Given the description of an element on the screen output the (x, y) to click on. 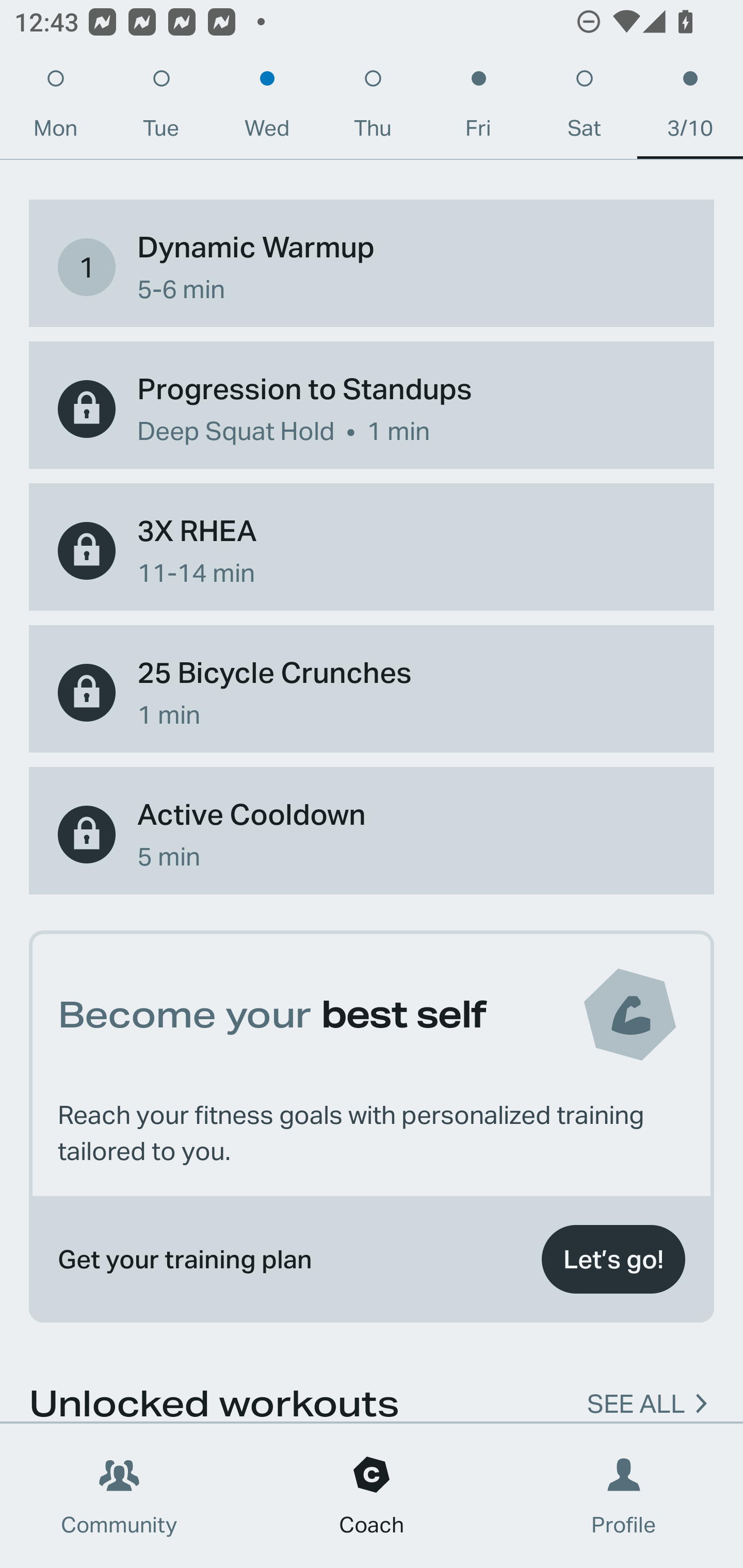
Mon (55, 108)
Tue (160, 108)
Wed (266, 108)
Thu (372, 108)
Fri (478, 108)
Sat (584, 108)
3/10 (690, 108)
1 Dynamic Warmup 5-6 min (371, 267)
Progression to Standups Deep Squat Hold  •  1 min (371, 408)
3X RHEA 11-14 min (371, 551)
25 Bicycle Crunches 1 min (371, 692)
Active Cooldown 5 min (371, 834)
Let’s go! (613, 1259)
SEE ALL (635, 1391)
Community (119, 1495)
Profile (624, 1495)
